Given the description of an element on the screen output the (x, y) to click on. 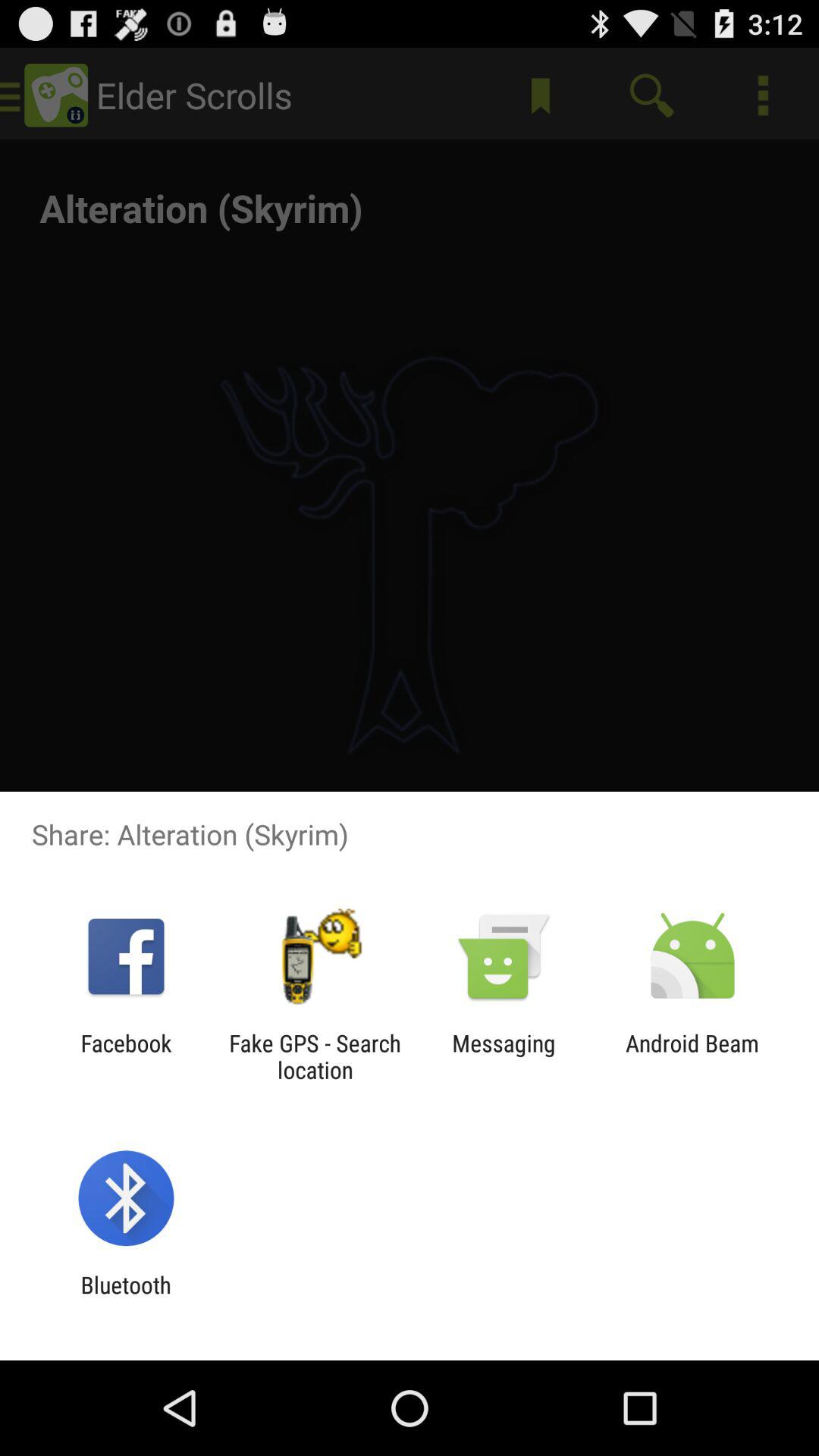
select the icon next to facebook app (314, 1056)
